Given the description of an element on the screen output the (x, y) to click on. 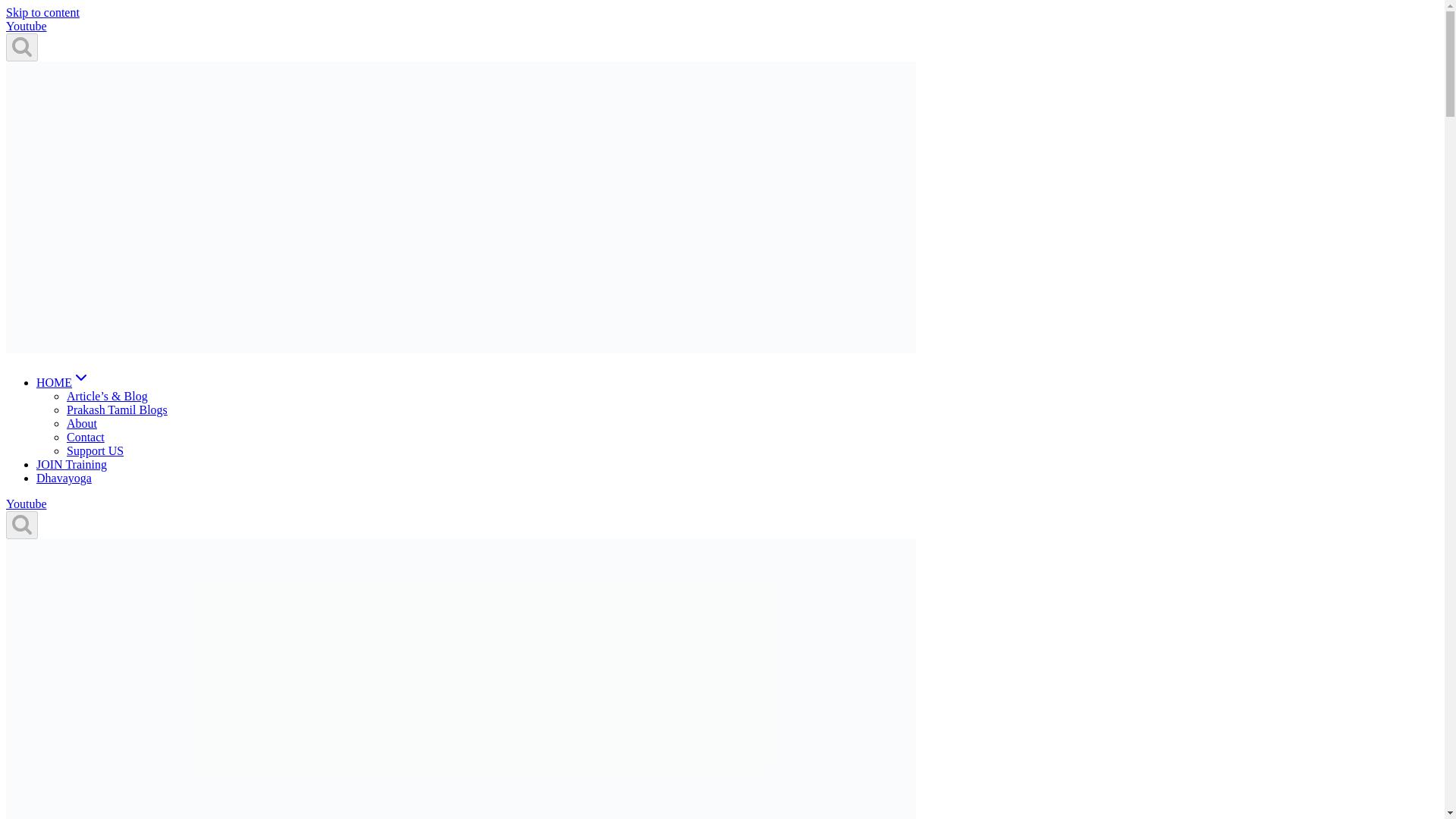
Contact (85, 436)
Skip to content (42, 11)
Youtube (25, 25)
About (81, 422)
Dhavayoga (63, 477)
HOME (63, 382)
Support US (94, 450)
Prakash Tamil Blogs (116, 409)
Celibacy Yoga meditations (63, 382)
Skip to content (42, 11)
